Given the description of an element on the screen output the (x, y) to click on. 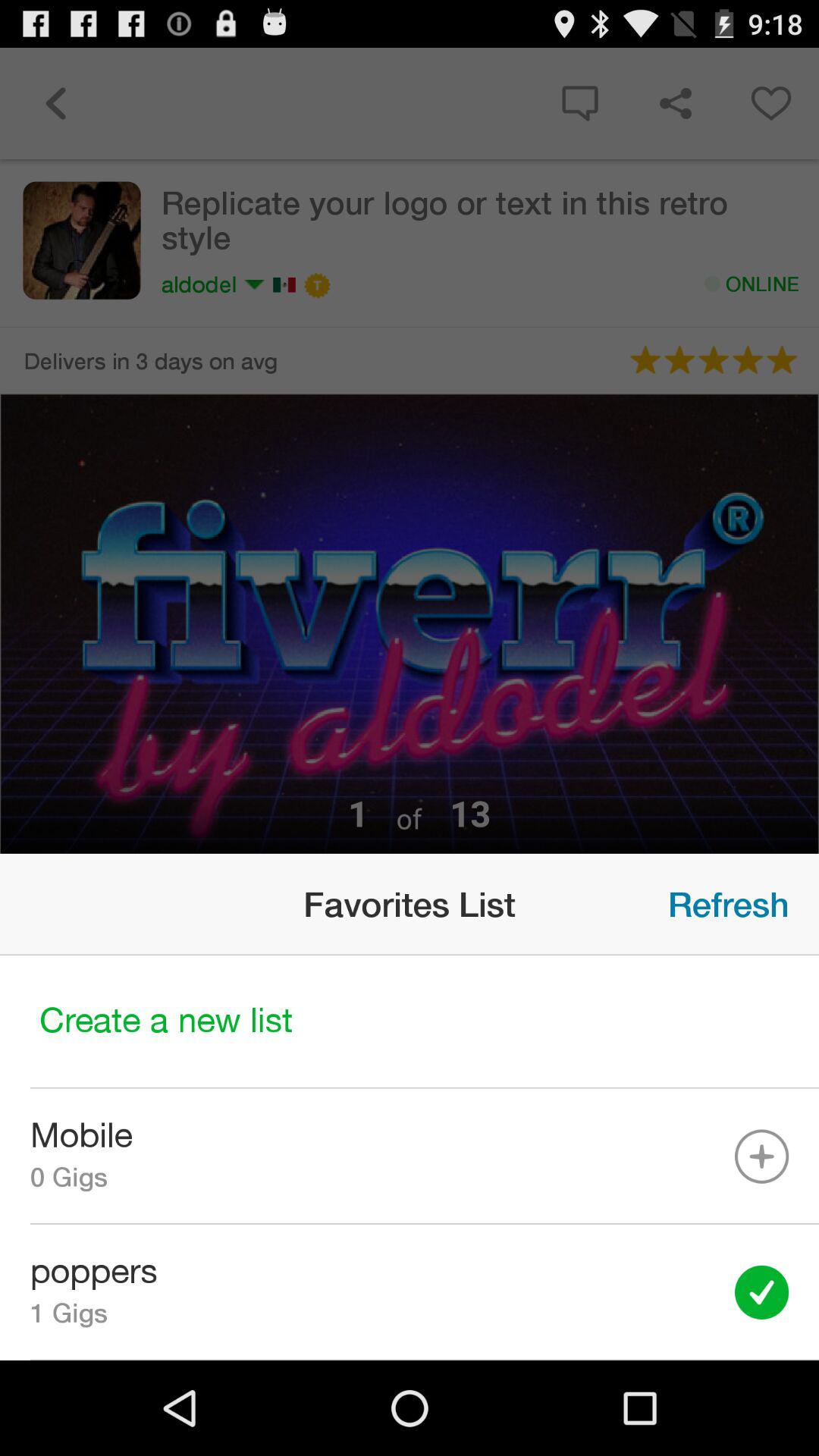
turn on refresh icon (728, 903)
